Given the description of an element on the screen output the (x, y) to click on. 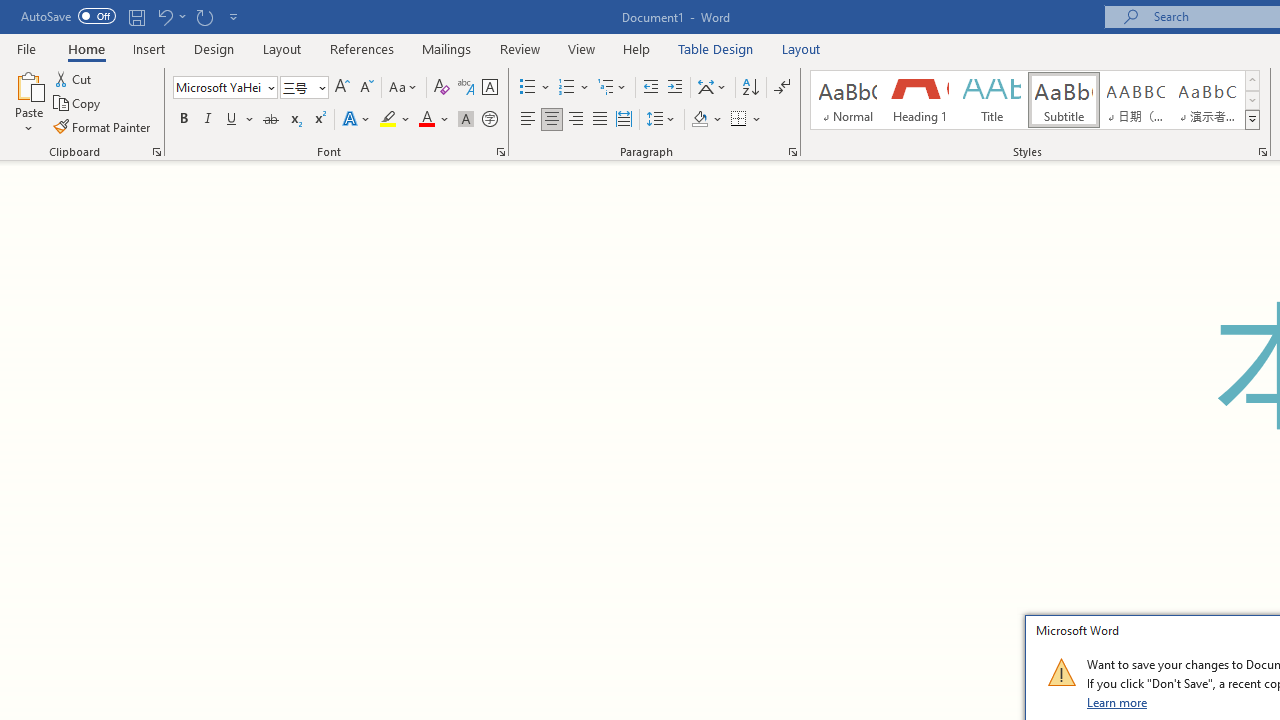
Repeat Superscript (204, 15)
Font Color Red (426, 119)
